Given the description of an element on the screen output the (x, y) to click on. 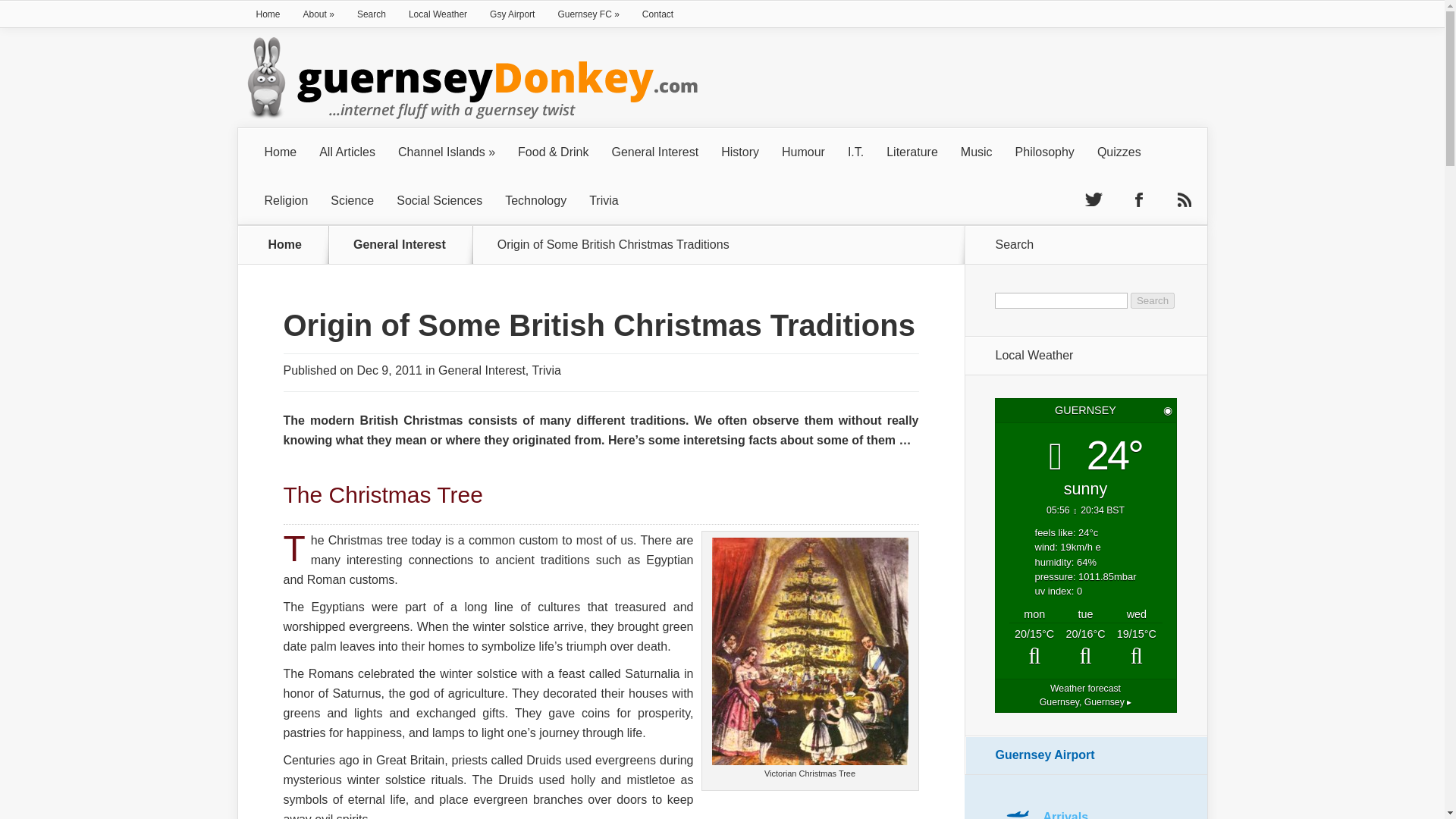
Partly Cloudy (1135, 648)
Contact (657, 13)
Gsy Airport (512, 13)
Mostly Cloudy (1084, 648)
Partly Cloudy (1034, 648)
About (319, 13)
Local Weather (438, 13)
Weather Atlas - Weather forecast Guernsey, Guernsey (1085, 695)
Guernsey FC (588, 13)
Search (1152, 300)
